Given the description of an element on the screen output the (x, y) to click on. 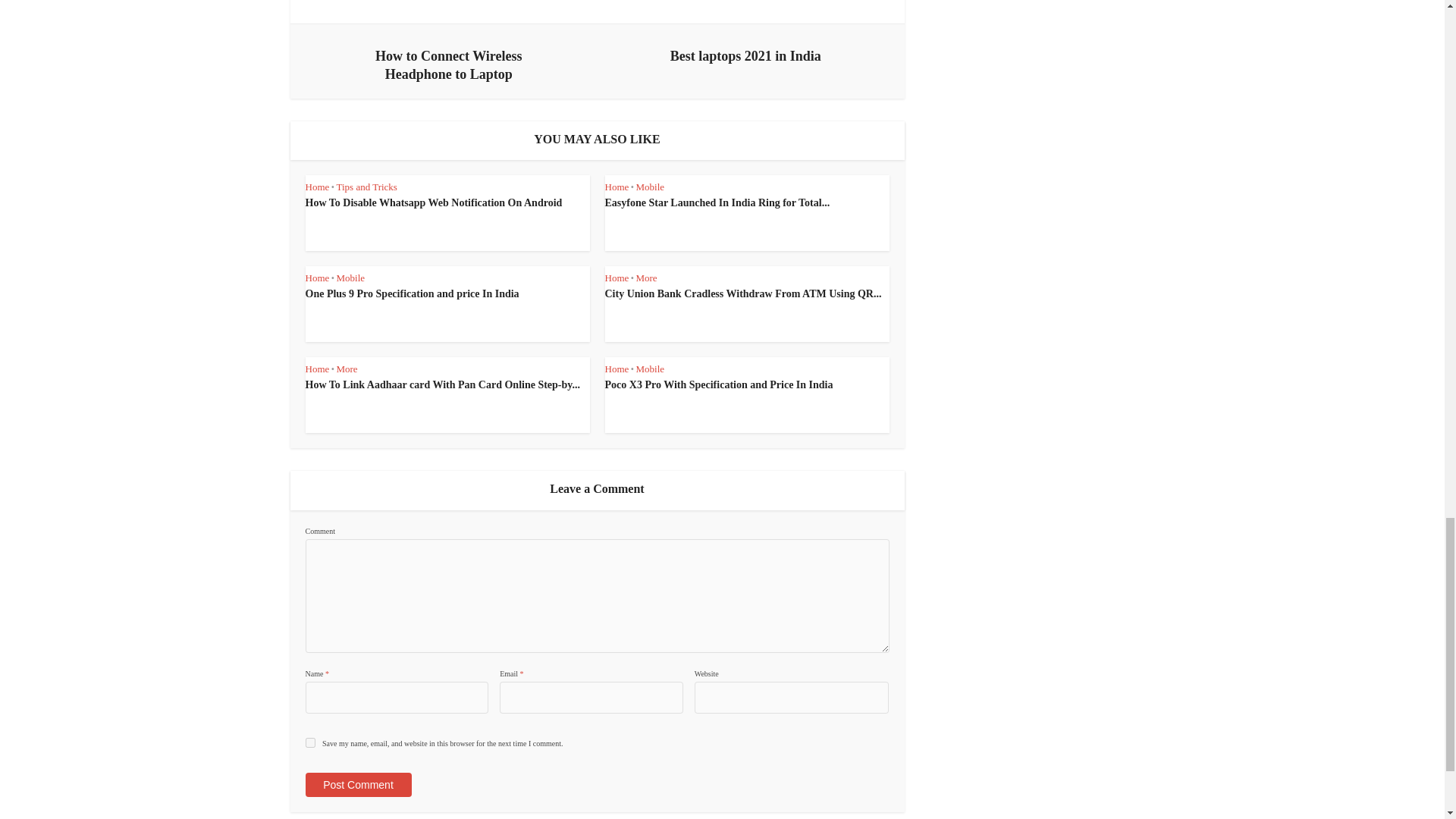
Mobile (350, 277)
yes (309, 742)
How To Disable Whatsapp Web Notification On Android (433, 202)
Poco X3 Pro With Specification and Price In India (718, 384)
Home (316, 277)
How To Disable Whatsapp Web Notification On Android (433, 202)
Best laptops 2021 in India (745, 52)
Mobile (648, 186)
City Union Bank Cradless Withdraw From ATM Using QR... (743, 293)
Tips and Tricks (366, 186)
